Given the description of an element on the screen output the (x, y) to click on. 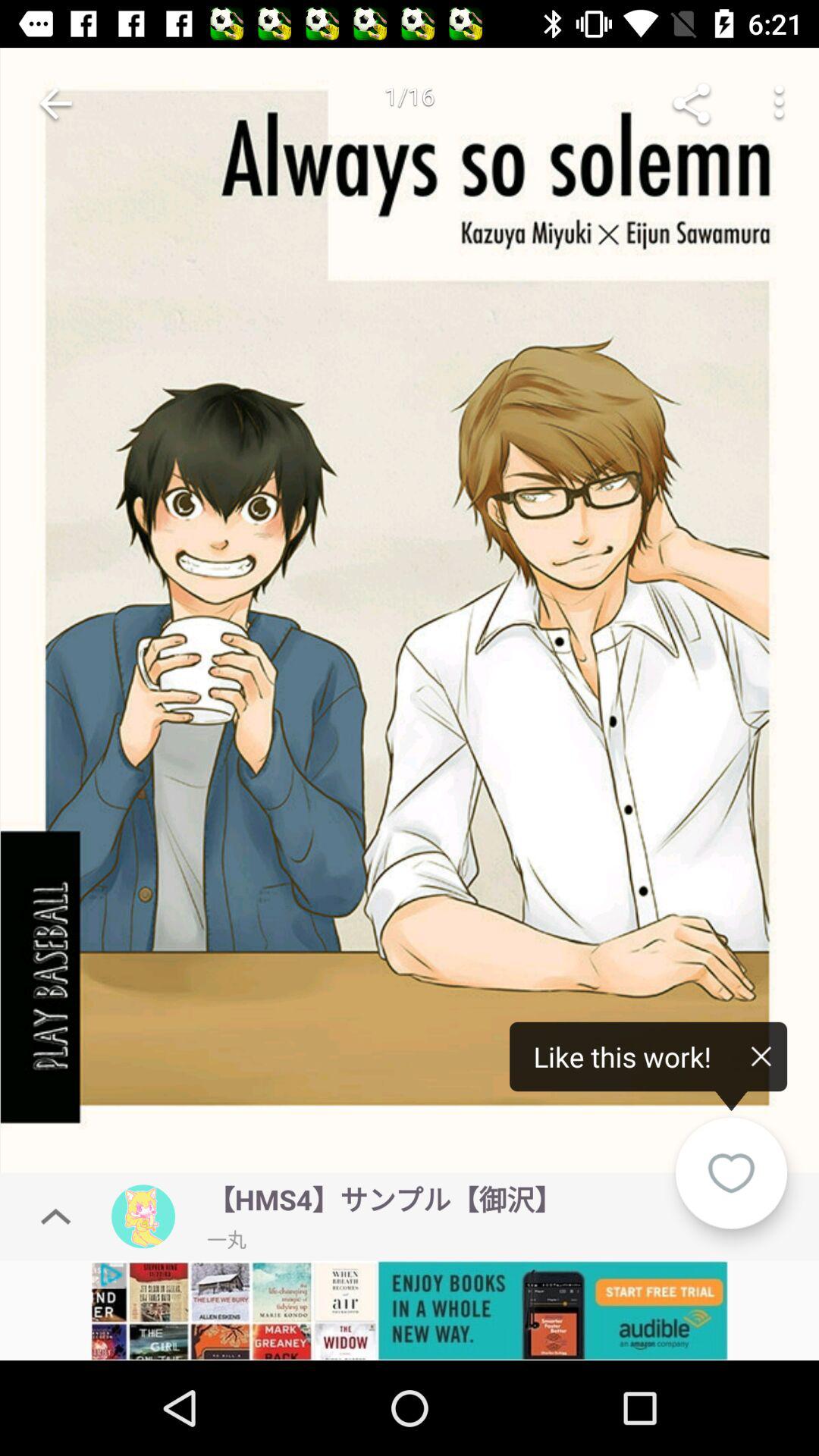
go to back (55, 103)
